Given the description of an element on the screen output the (x, y) to click on. 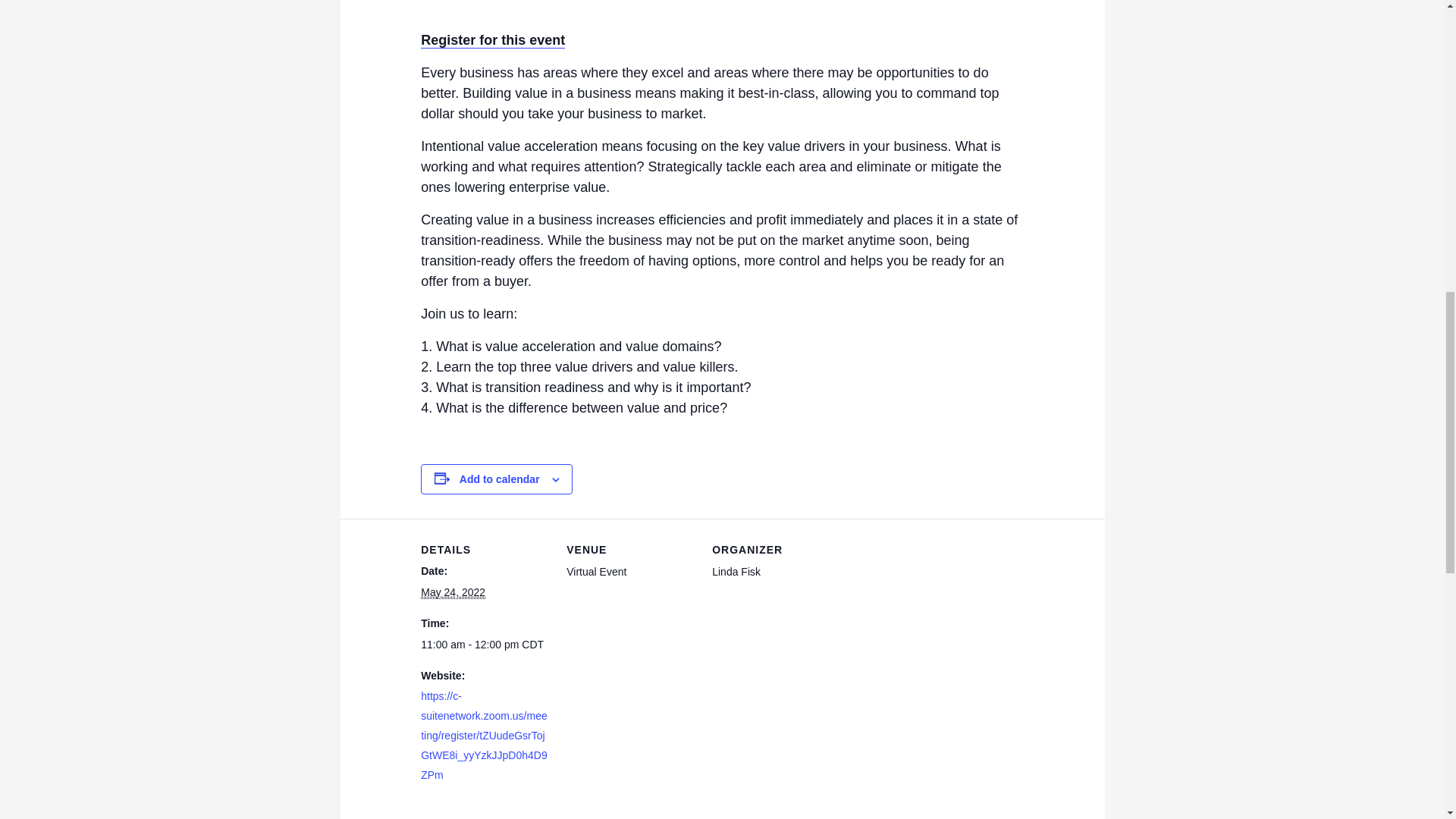
2022-05-24 (484, 645)
Register for this event (492, 40)
Add to calendar (500, 479)
2022-05-24 (452, 592)
